Given the description of an element on the screen output the (x, y) to click on. 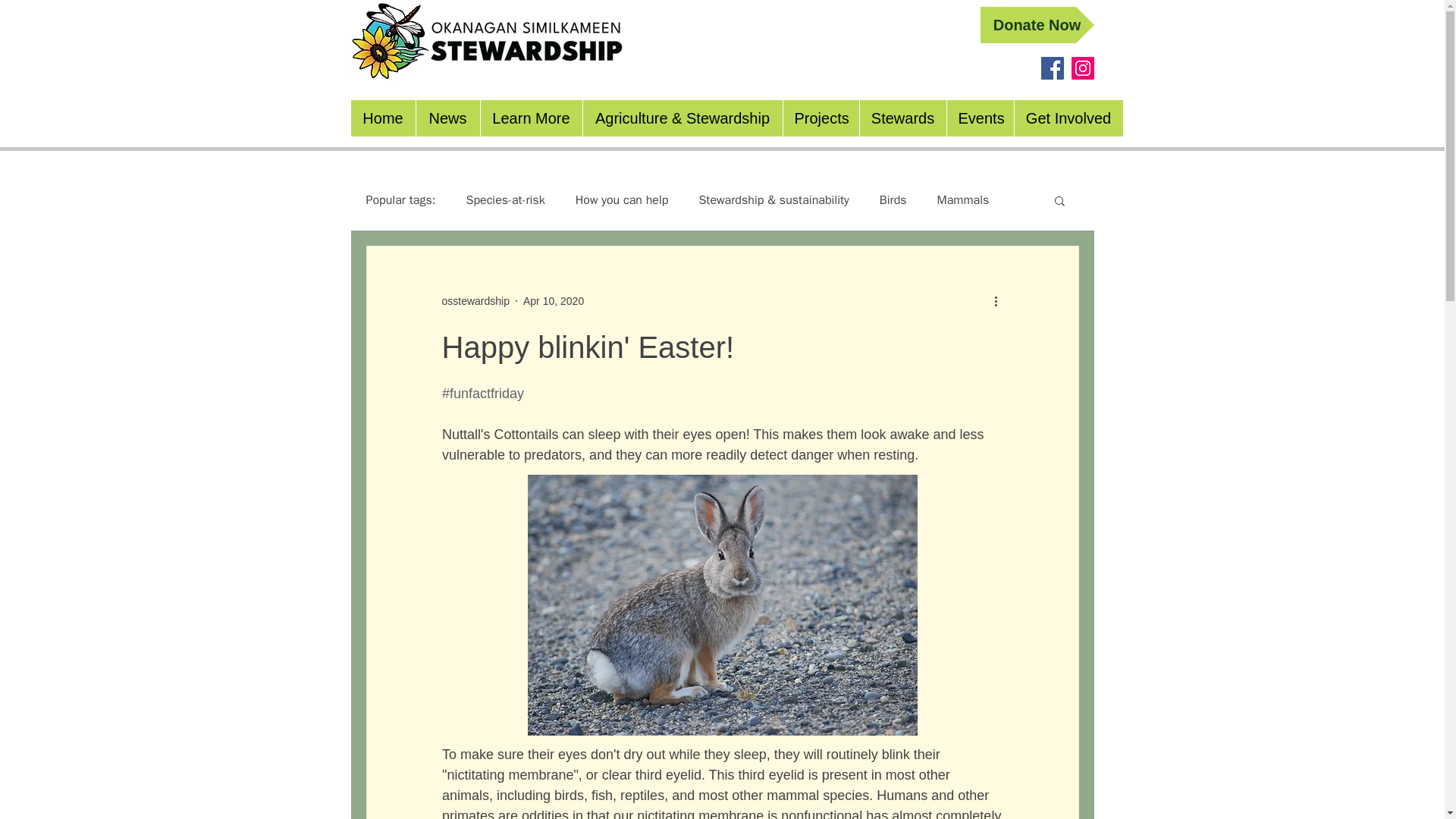
News (447, 117)
How you can help (621, 200)
Projects (821, 117)
Popular tags: (400, 200)
Birds (893, 200)
Get Involved (1067, 117)
Stewards (901, 117)
osstewardship (475, 300)
Learn More (529, 117)
Apr 10, 2020 (552, 300)
Events (979, 117)
Home (382, 117)
Donate Now (1036, 24)
Species-at-risk (504, 200)
